Given the description of an element on the screen output the (x, y) to click on. 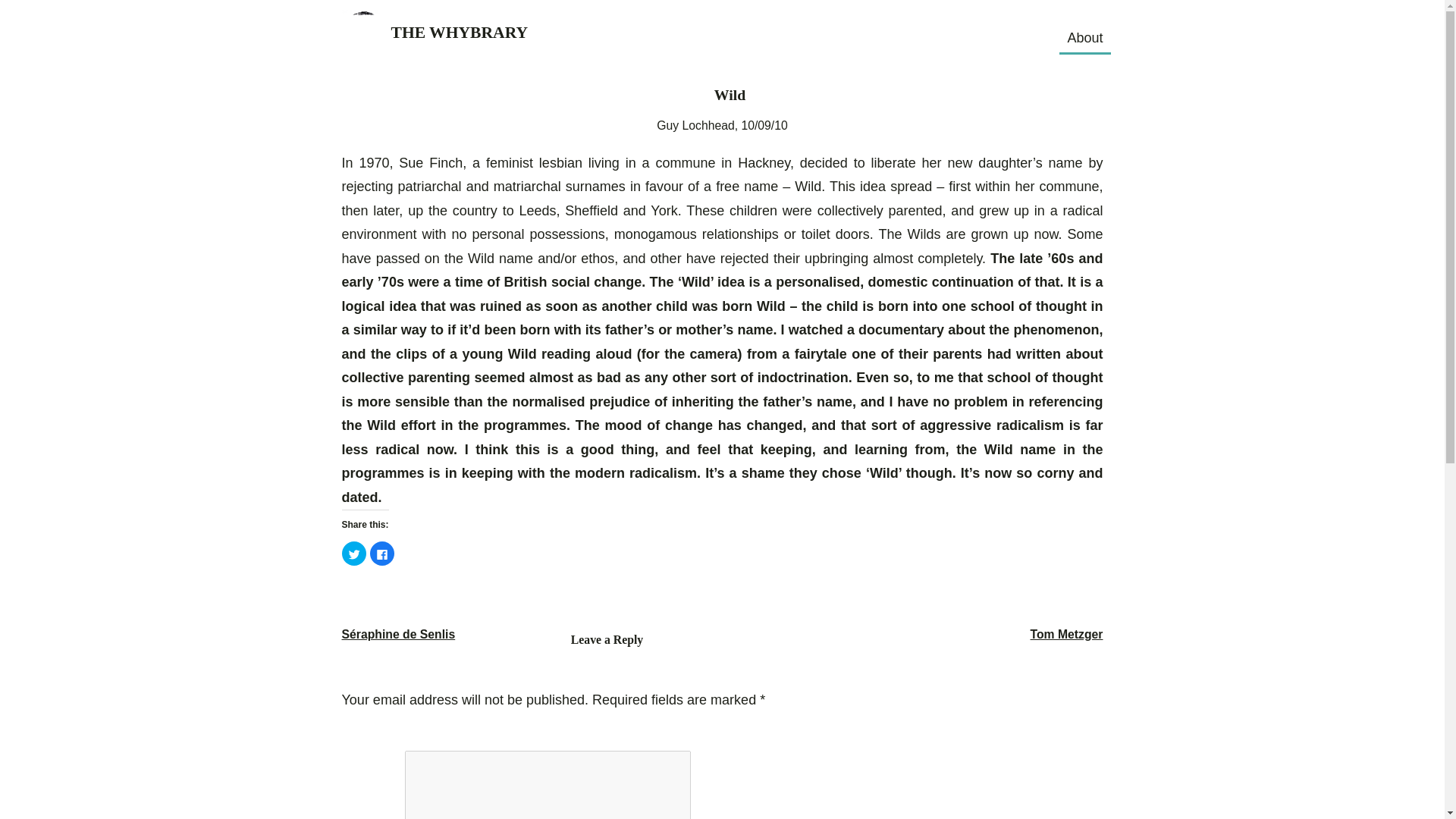
The Whybrary (359, 40)
Wild (729, 94)
About (1084, 37)
The Whybrary (459, 32)
THE WHYBRARY (459, 32)
Click to share on Facebook (381, 553)
Click to share on Twitter (352, 553)
Tom Metzger (1066, 634)
Permanent Link to Wild (729, 94)
